Given the description of an element on the screen output the (x, y) to click on. 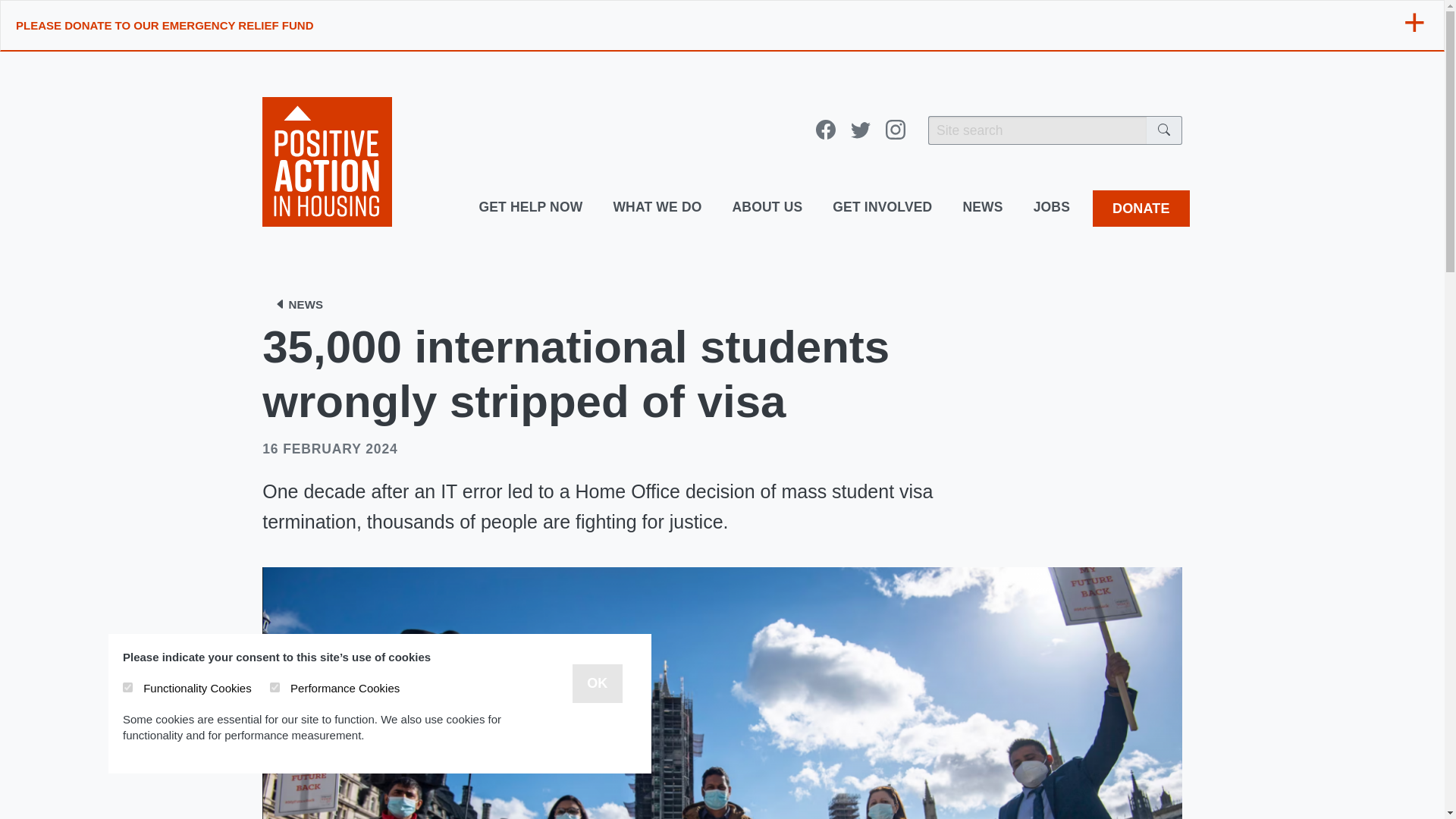
y (127, 687)
OK (596, 683)
Facebook (825, 130)
SEARCH (1164, 130)
JOBS (1050, 207)
WHAT WE DO (656, 207)
NEWS (982, 207)
GET INVOLVED (881, 207)
y (274, 687)
NEWS (298, 304)
DONATE (1141, 208)
ABOUT US (767, 207)
GET HELP NOW (529, 207)
Twitter (860, 130)
Instagram (895, 130)
